Given the description of an element on the screen output the (x, y) to click on. 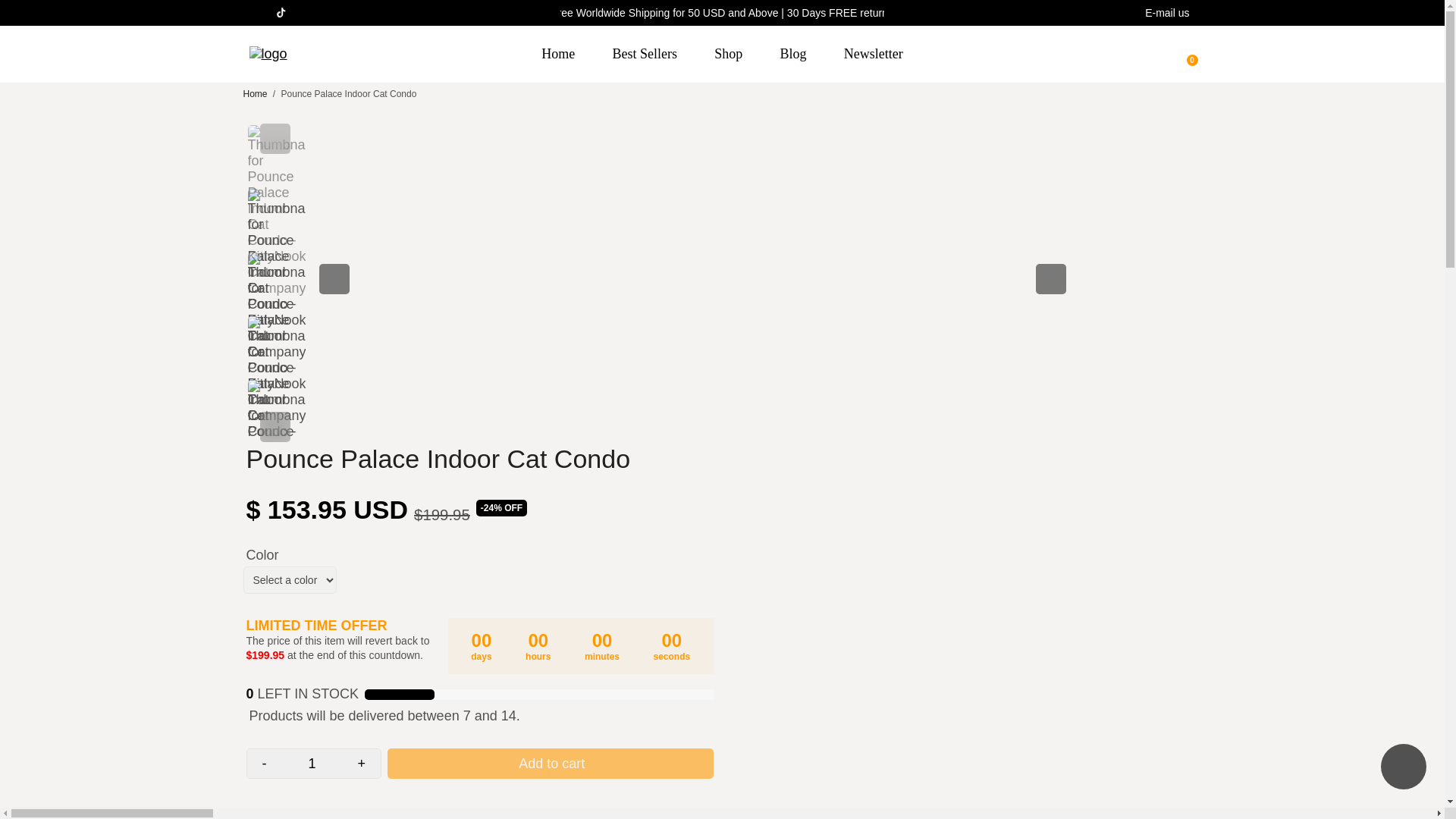
Shop (727, 53)
Newsletter (873, 53)
Home (557, 53)
Home (254, 93)
Best Sellers (643, 53)
E-mail us (1166, 12)
Blog (793, 53)
Home (254, 93)
1 (312, 763)
